Given the description of an element on the screen output the (x, y) to click on. 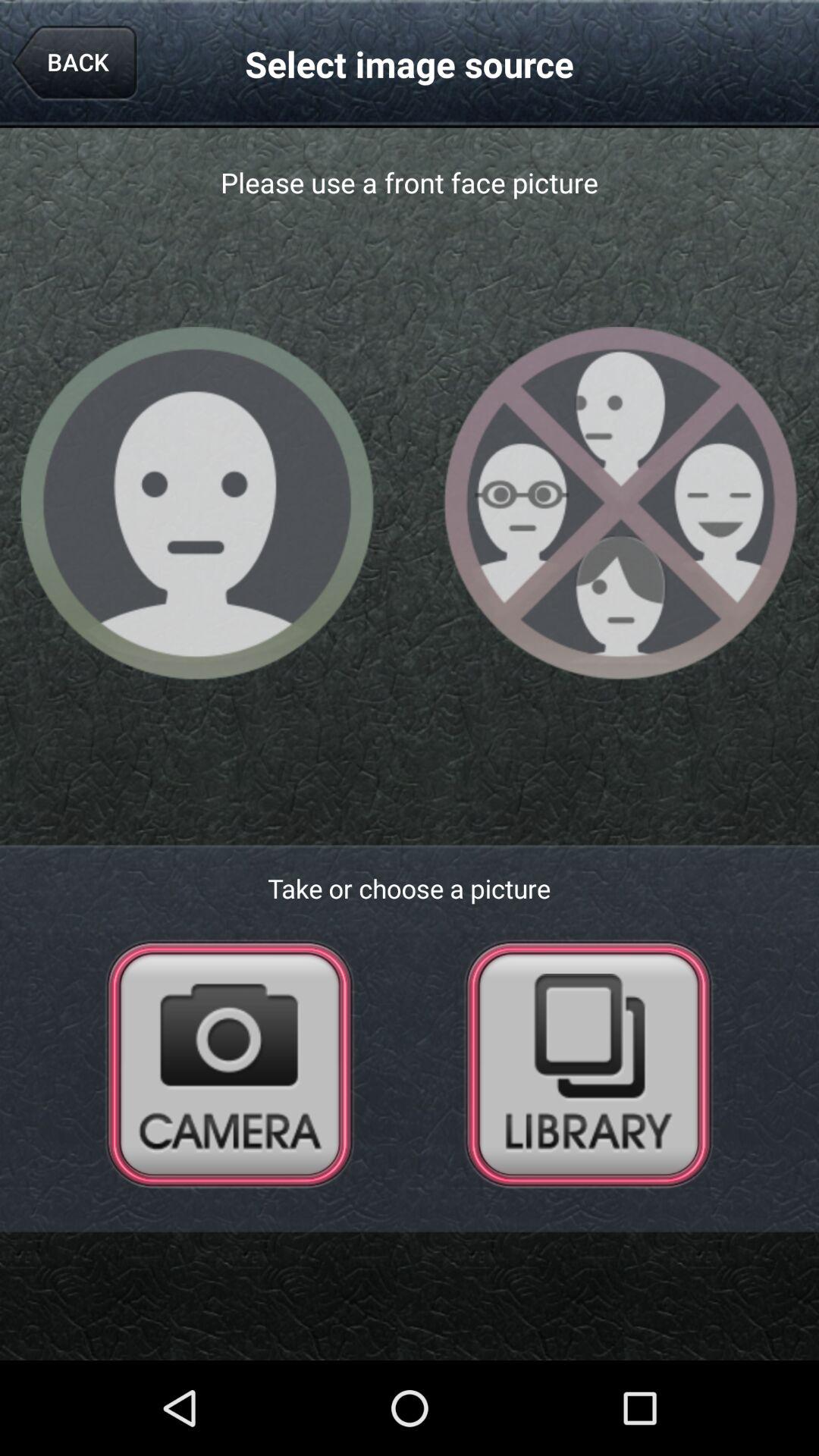
flip until back (74, 63)
